Given the description of an element on the screen output the (x, y) to click on. 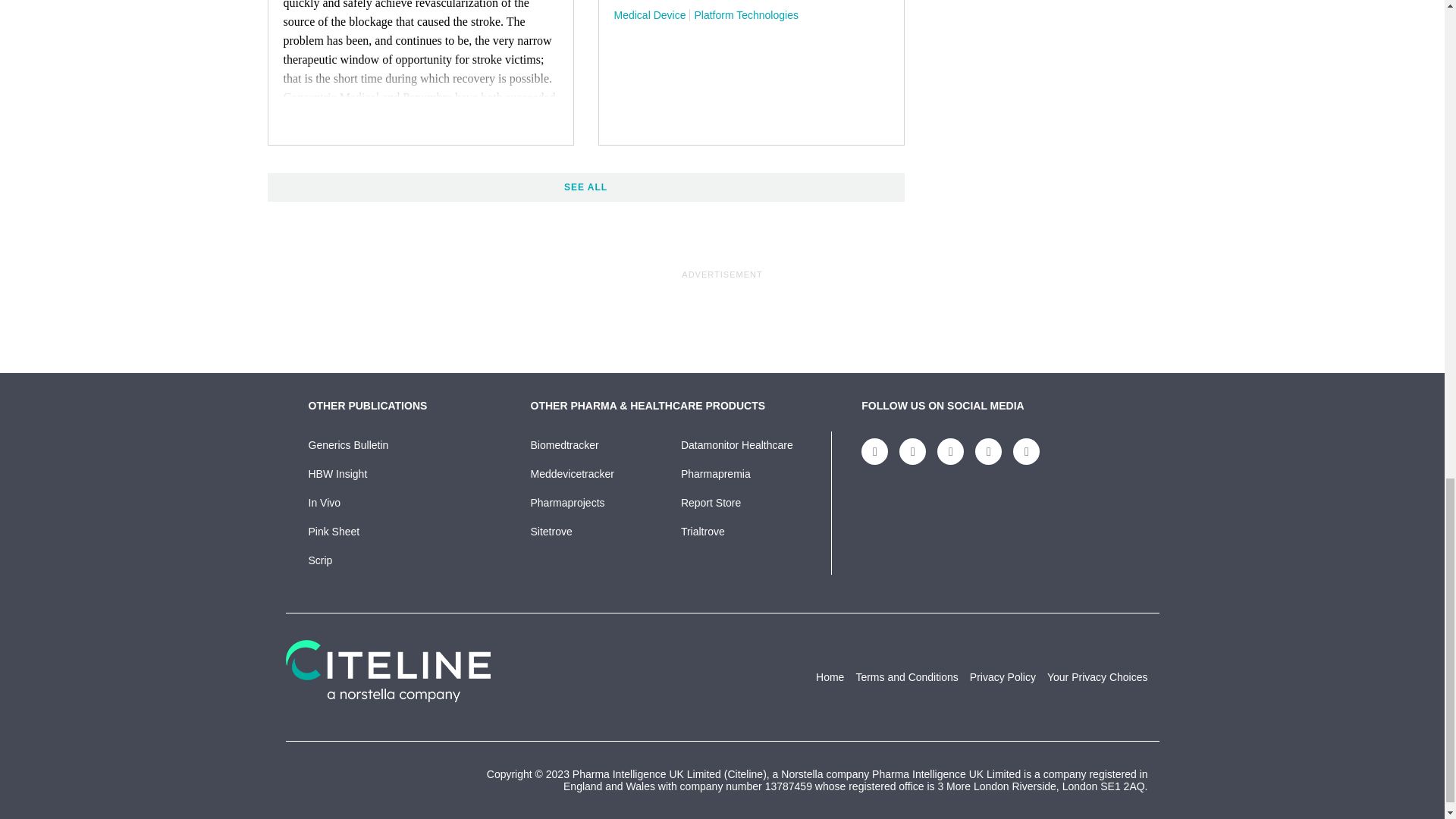
3rd party ad content (721, 315)
